Given the description of an element on the screen output the (x, y) to click on. 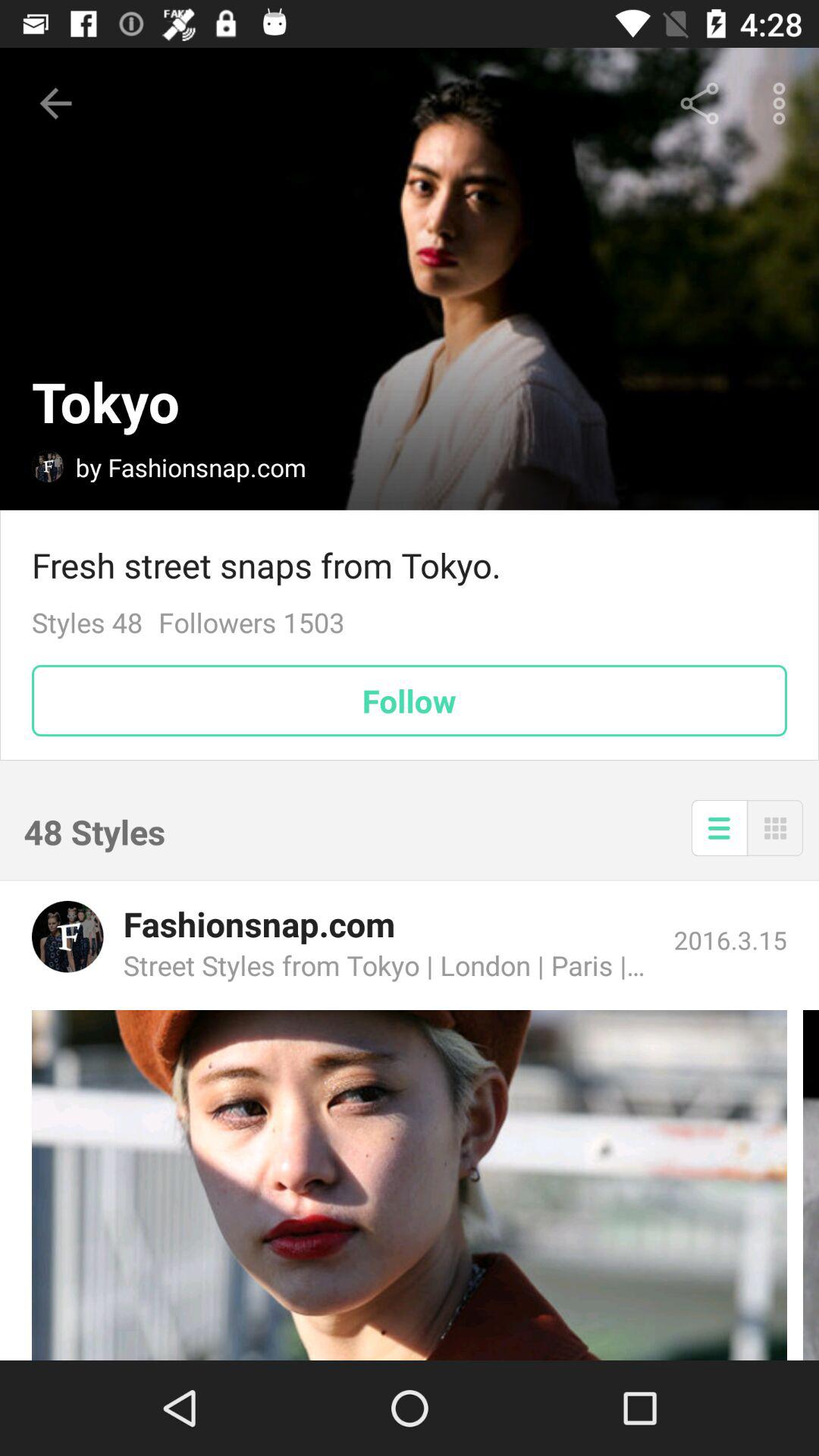
view this person 's photo (409, 1185)
